Given the description of an element on the screen output the (x, y) to click on. 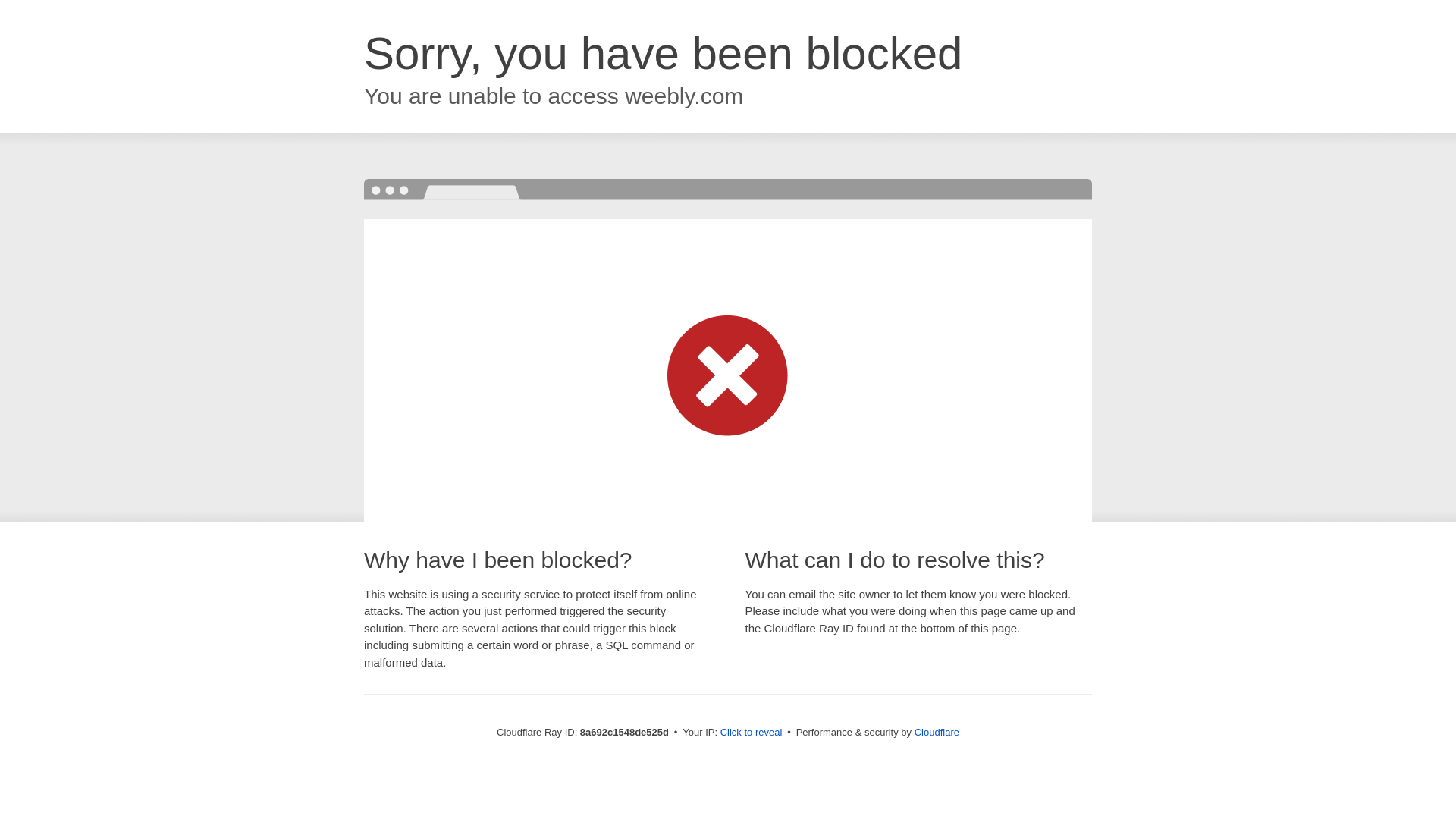
Click to reveal (751, 732)
Cloudflare (936, 731)
